Given the description of an element on the screen output the (x, y) to click on. 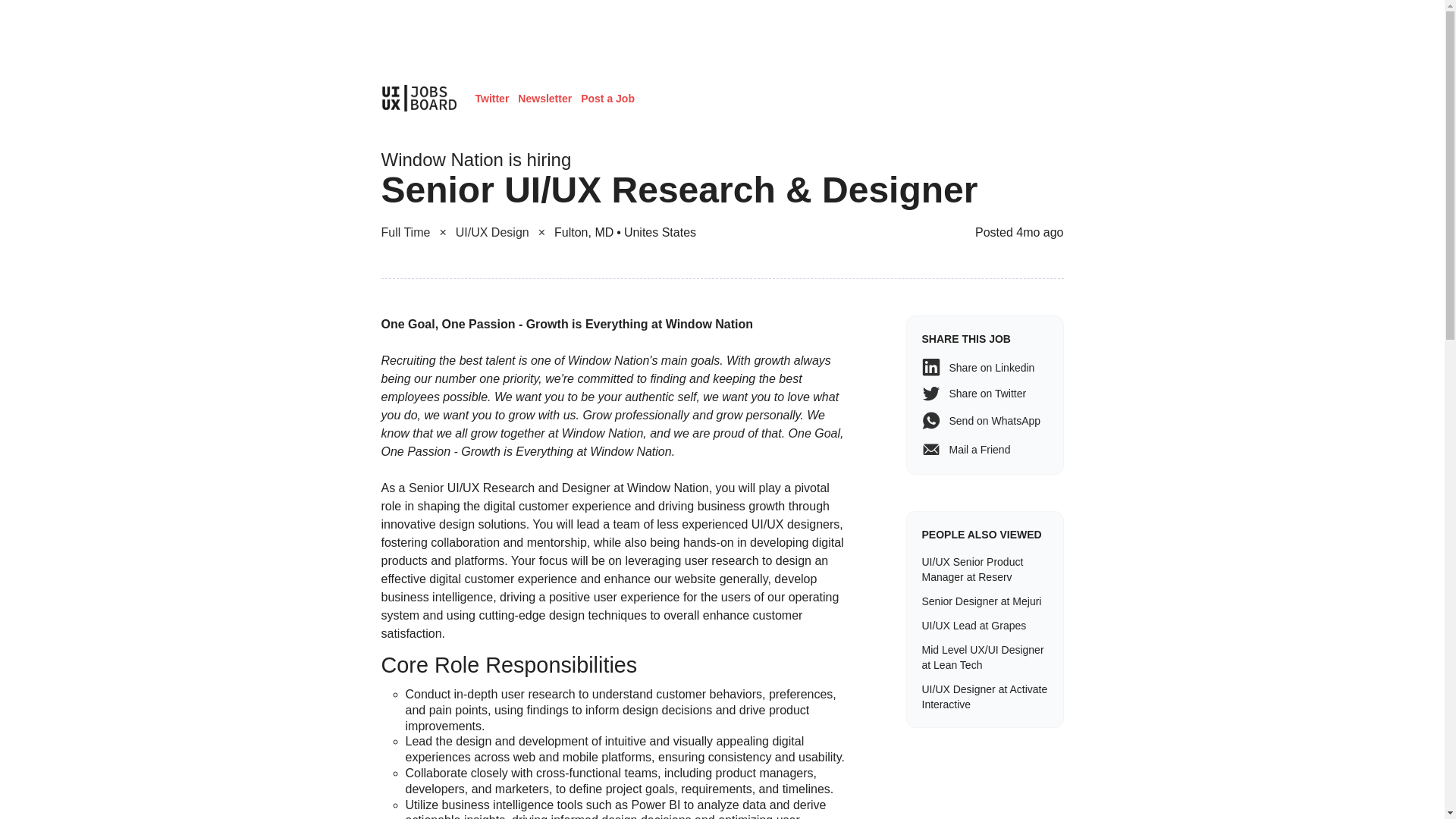
Send on WhatsApp (984, 420)
Unites States (659, 232)
Senior Designer at Mejuri (984, 601)
Newsletter (545, 98)
Fulton, MD (587, 232)
Mail a Friend (984, 449)
Twitter (491, 98)
Post a Job (607, 98)
Share on Linkedin (984, 366)
Share on Twitter (984, 393)
